Given the description of an element on the screen output the (x, y) to click on. 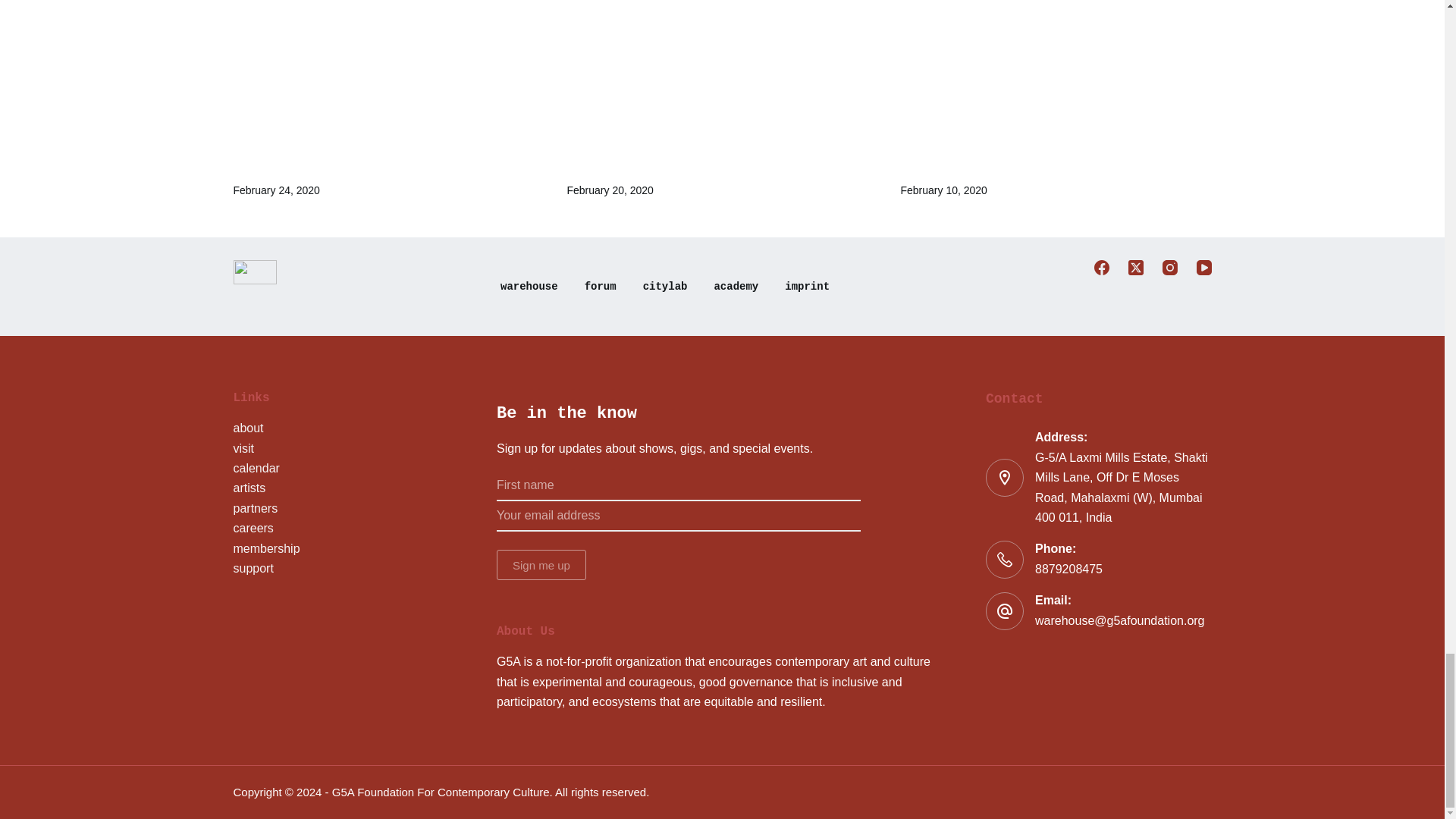
Sign me up (541, 564)
